Given the description of an element on the screen output the (x, y) to click on. 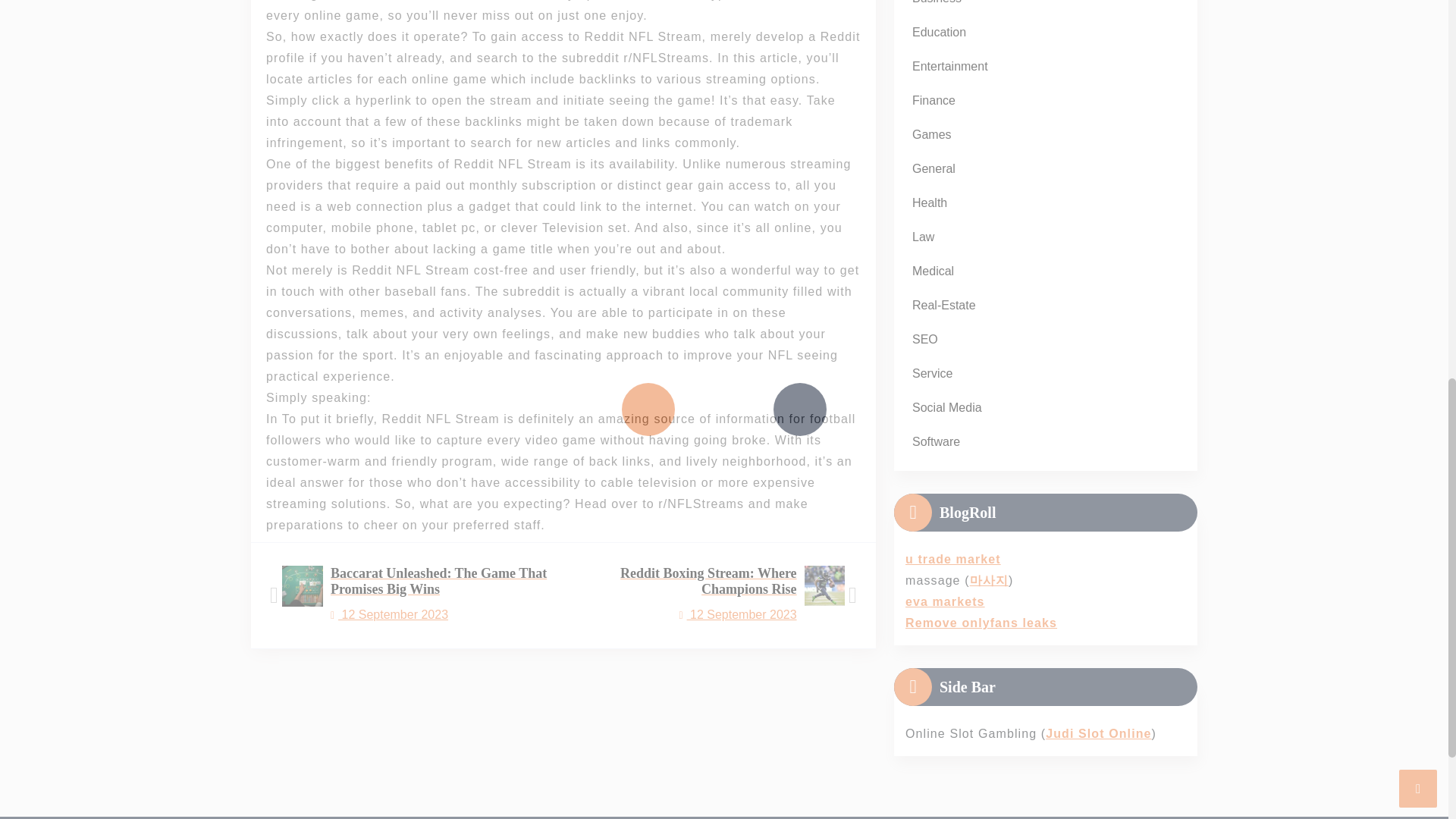
Finance (933, 99)
Business (935, 5)
Education (721, 595)
General (938, 31)
Games (933, 168)
Entertainment (931, 134)
